Given the description of an element on the screen output the (x, y) to click on. 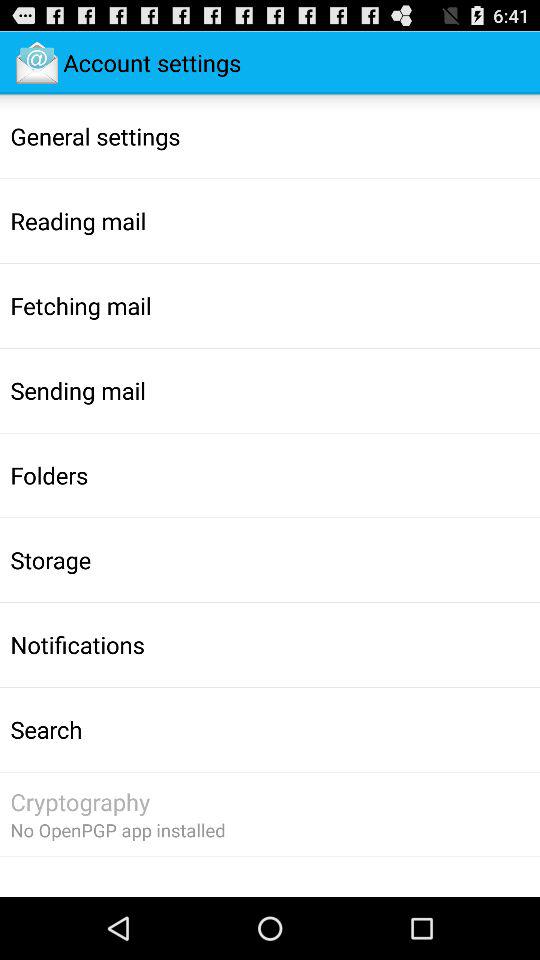
open the sending mail item (77, 390)
